Given the description of an element on the screen output the (x, y) to click on. 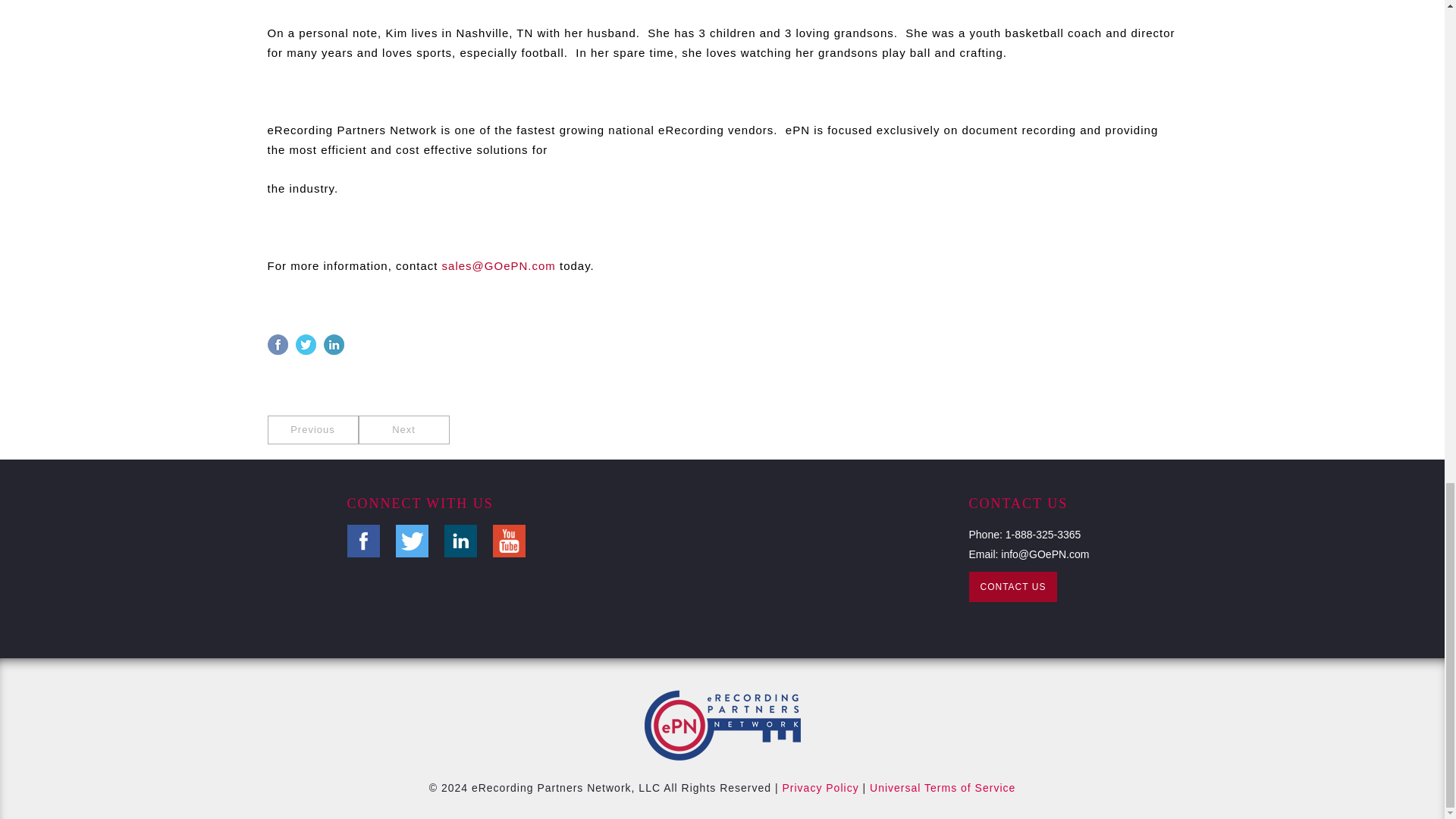
CONTACT US (1013, 586)
Next (403, 429)
Previous (312, 429)
Share on Facebook (278, 342)
Share on LinkedIn (335, 342)
Tweet (307, 342)
Phone (1043, 534)
Todd County, Kentucky Joins the ePN Network (403, 429)
1-888-325-3365 (1043, 534)
